Given the description of an element on the screen output the (x, y) to click on. 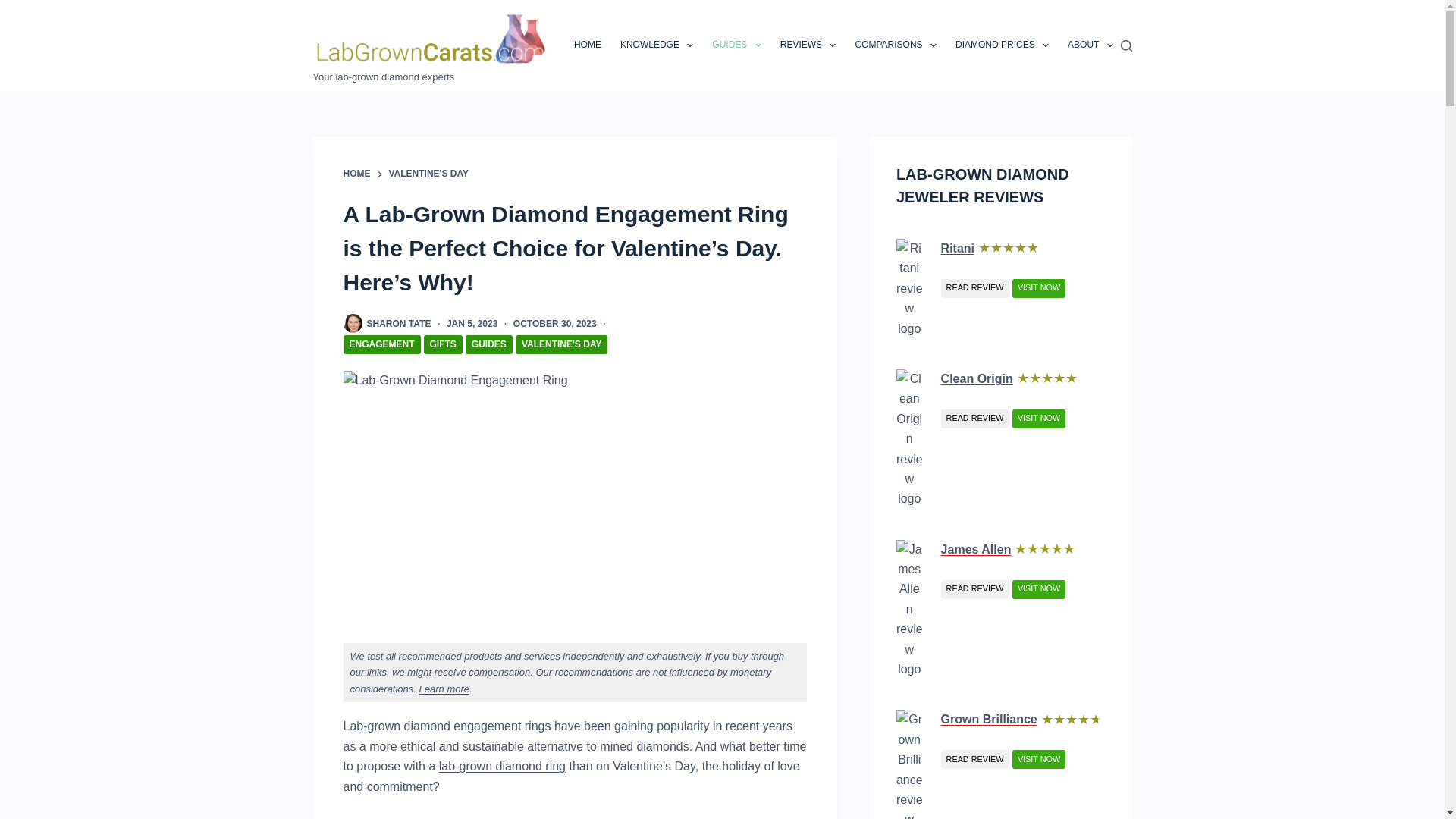
Posts by Sharon Tate (398, 323)
Skip to content (15, 7)
